Given the description of an element on the screen output the (x, y) to click on. 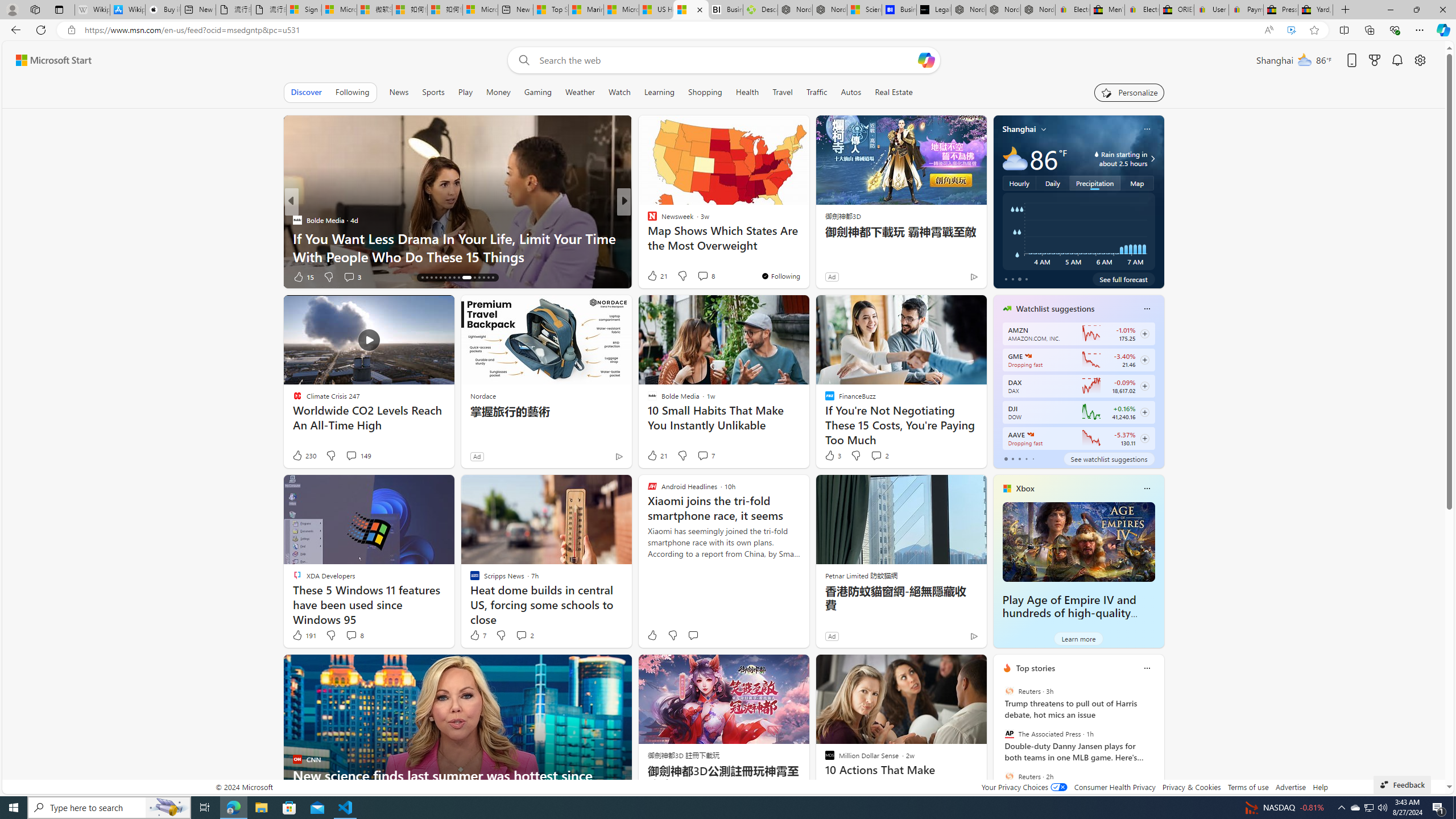
View comments 3 Comment (349, 276)
See watchlist suggestions (1108, 459)
tab-0 (1005, 458)
previous (998, 741)
AutomationID: tab-28 (483, 277)
tab-1 (1012, 458)
View comments 31 Comment (698, 276)
AutomationID: tab-17 (426, 277)
Reader's Digest (647, 238)
